Given the description of an element on the screen output the (x, y) to click on. 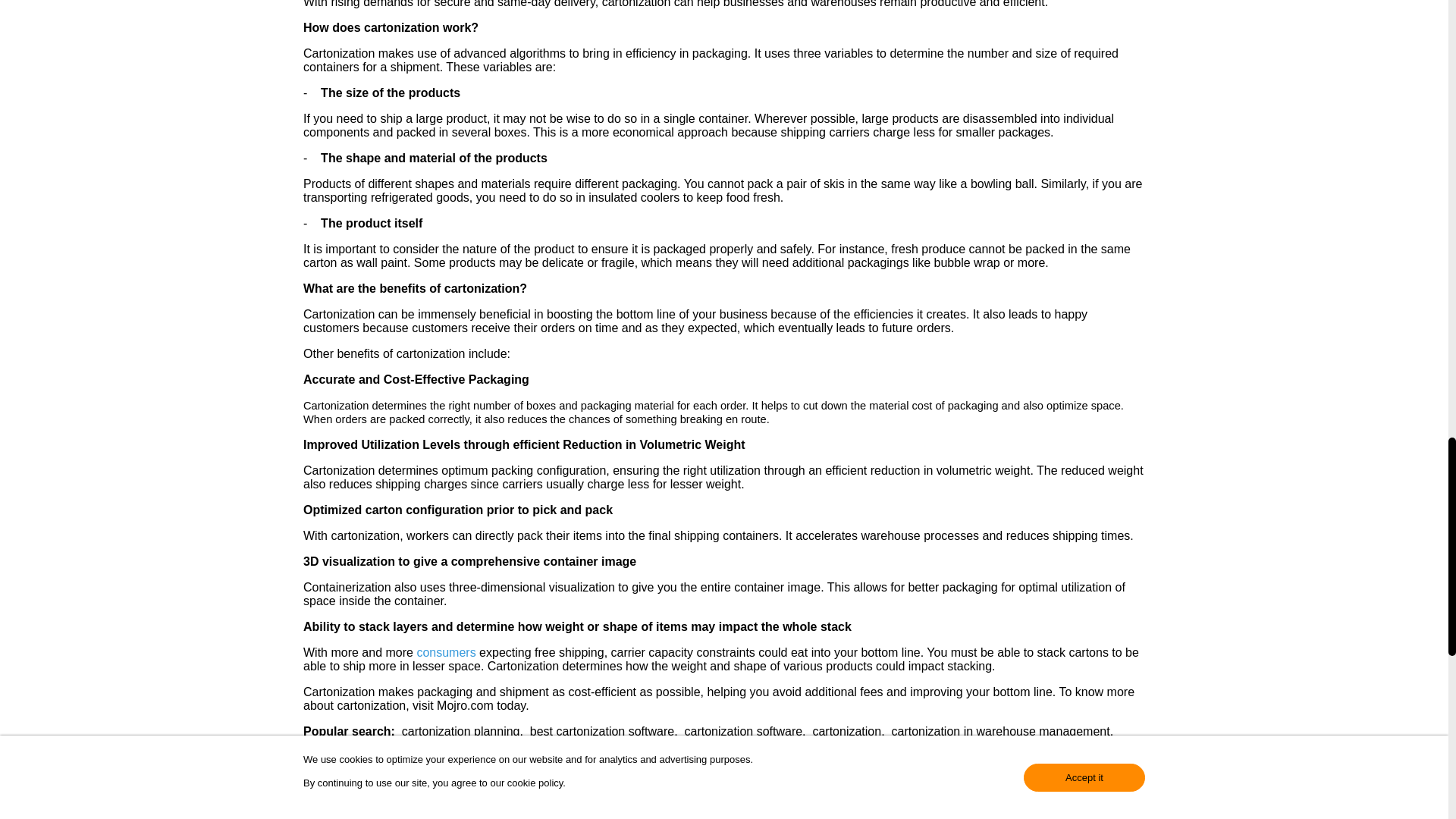
consumers (446, 652)
